Given the description of an element on the screen output the (x, y) to click on. 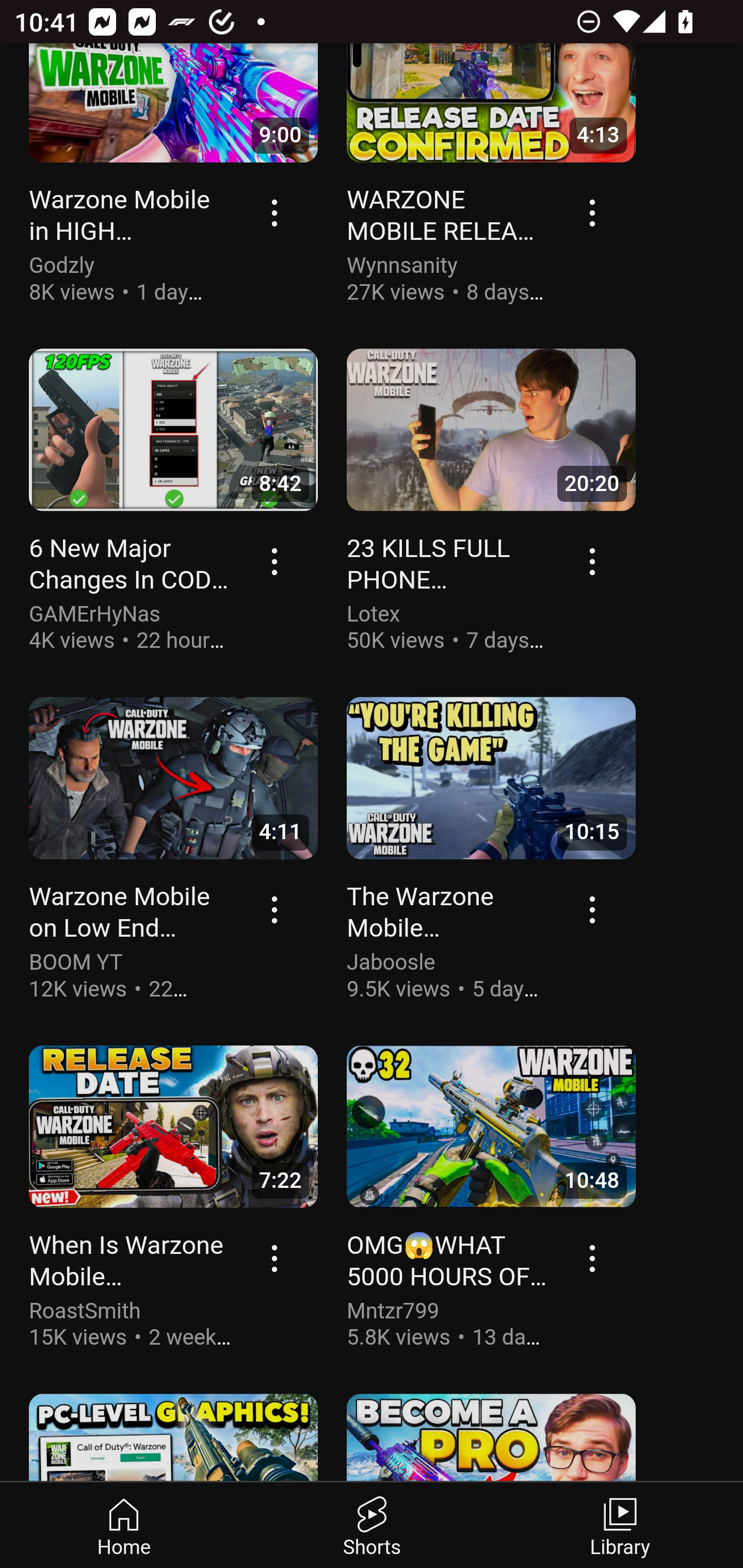
Action menu (275, 213)
Action menu (593, 213)
Action menu (275, 562)
Action menu (593, 562)
Action menu (275, 910)
Action menu (593, 910)
Action menu (275, 1259)
Action menu (593, 1259)
Home (124, 1525)
Shorts (371, 1525)
Library (618, 1525)
